Given the description of an element on the screen output the (x, y) to click on. 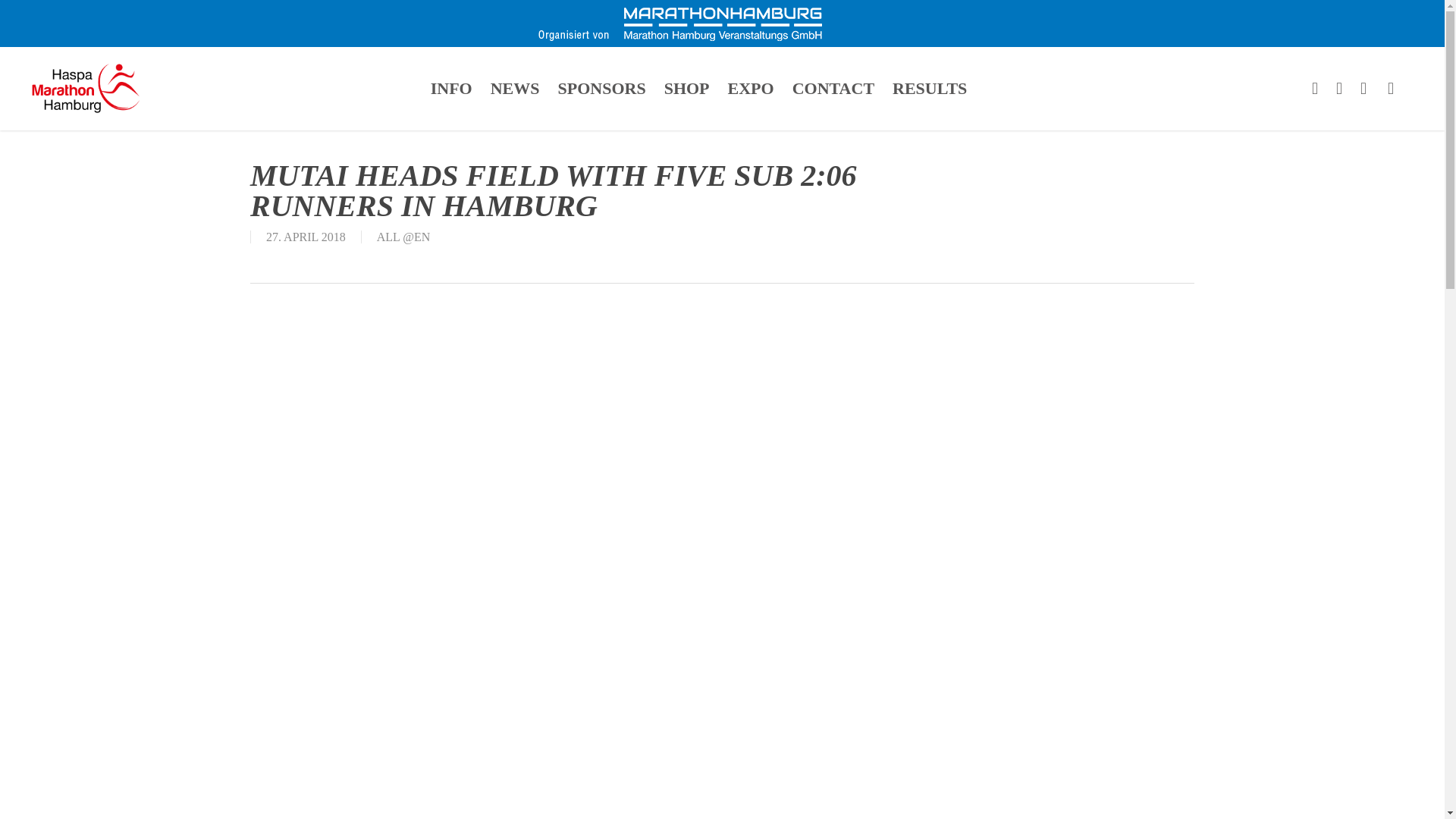
Open Cookie Preferences (32, 798)
INFO (451, 88)
EXPO (751, 88)
YOUTUBE (1363, 88)
RESULTS (929, 88)
NEWS (514, 88)
TWITTER (1314, 88)
CONTACT (833, 88)
SHOP (687, 88)
SPONSORS (600, 88)
